Given the description of an element on the screen output the (x, y) to click on. 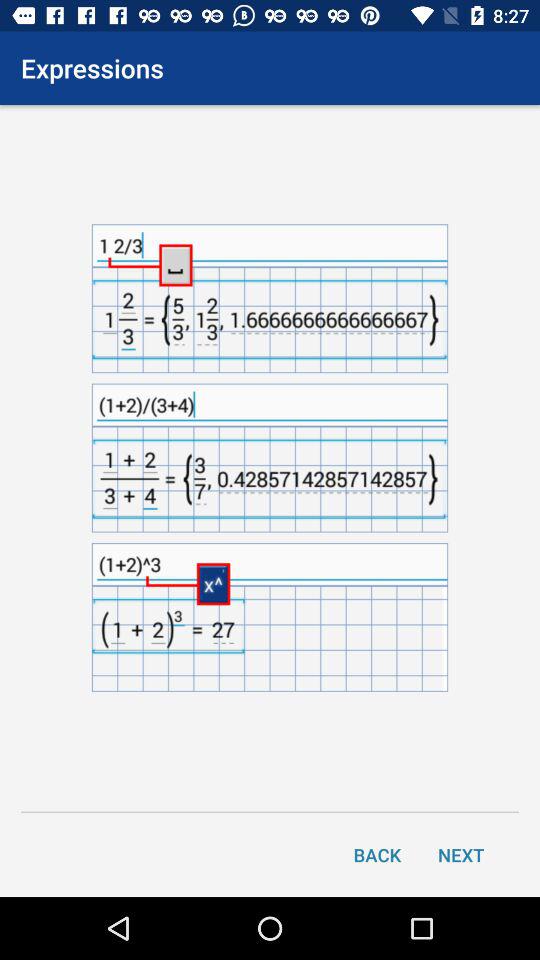
scroll until the back item (377, 854)
